Given the description of an element on the screen output the (x, y) to click on. 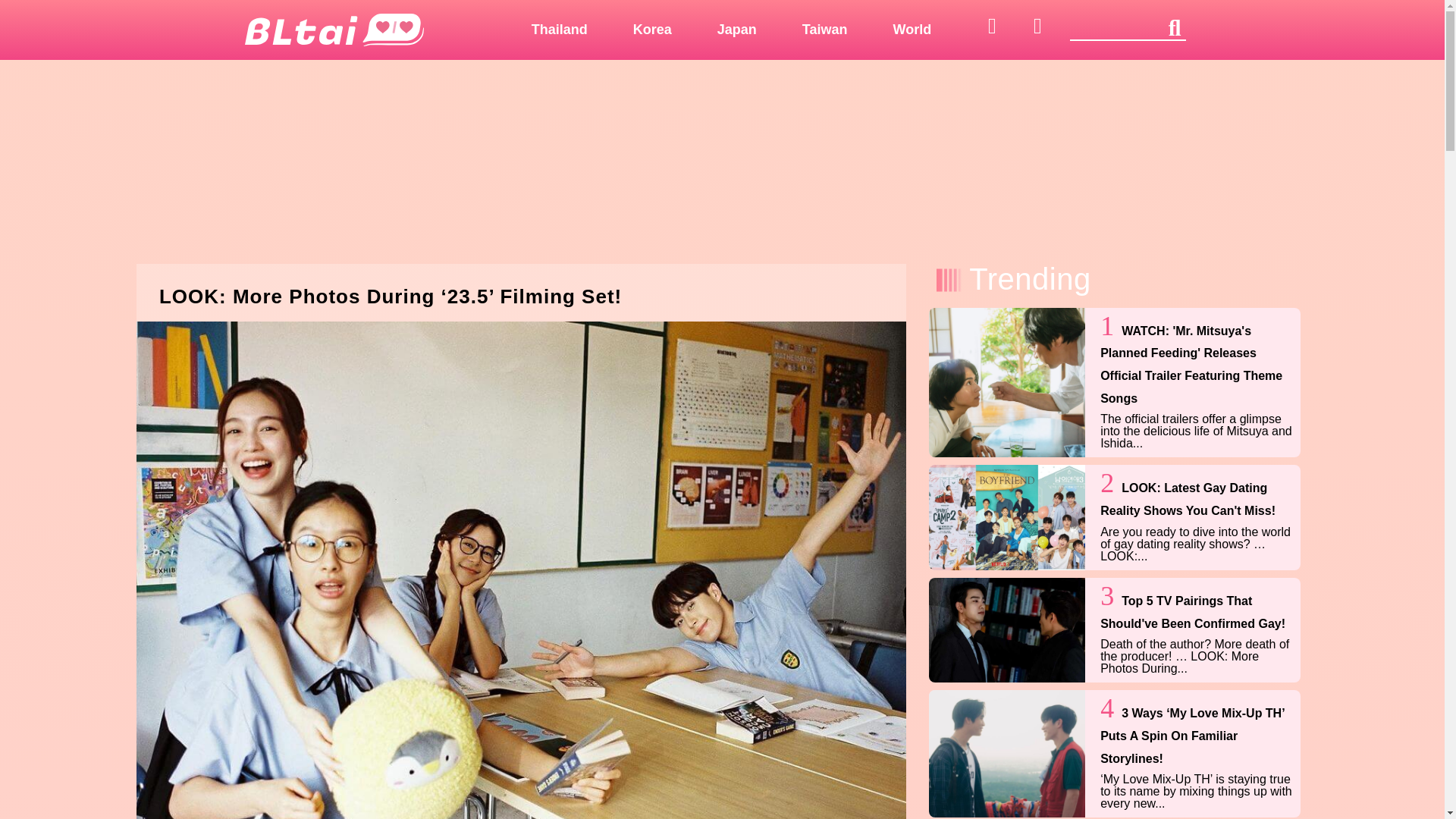
Japan (736, 29)
LOOK: Latest Gay Dating Reality Shows You Can't Miss! (1187, 498)
Taiwan (824, 29)
Top 5 TV Pairings That Should've Been Confirmed Gay! (1006, 630)
Thailand (559, 29)
Korea (652, 29)
LOOK: Latest Gay Dating Reality Shows You Can't Miss! (1006, 517)
Top 5 TV Pairings That Should've Been Confirmed Gay! (1192, 611)
World (912, 29)
